Given the description of an element on the screen output the (x, y) to click on. 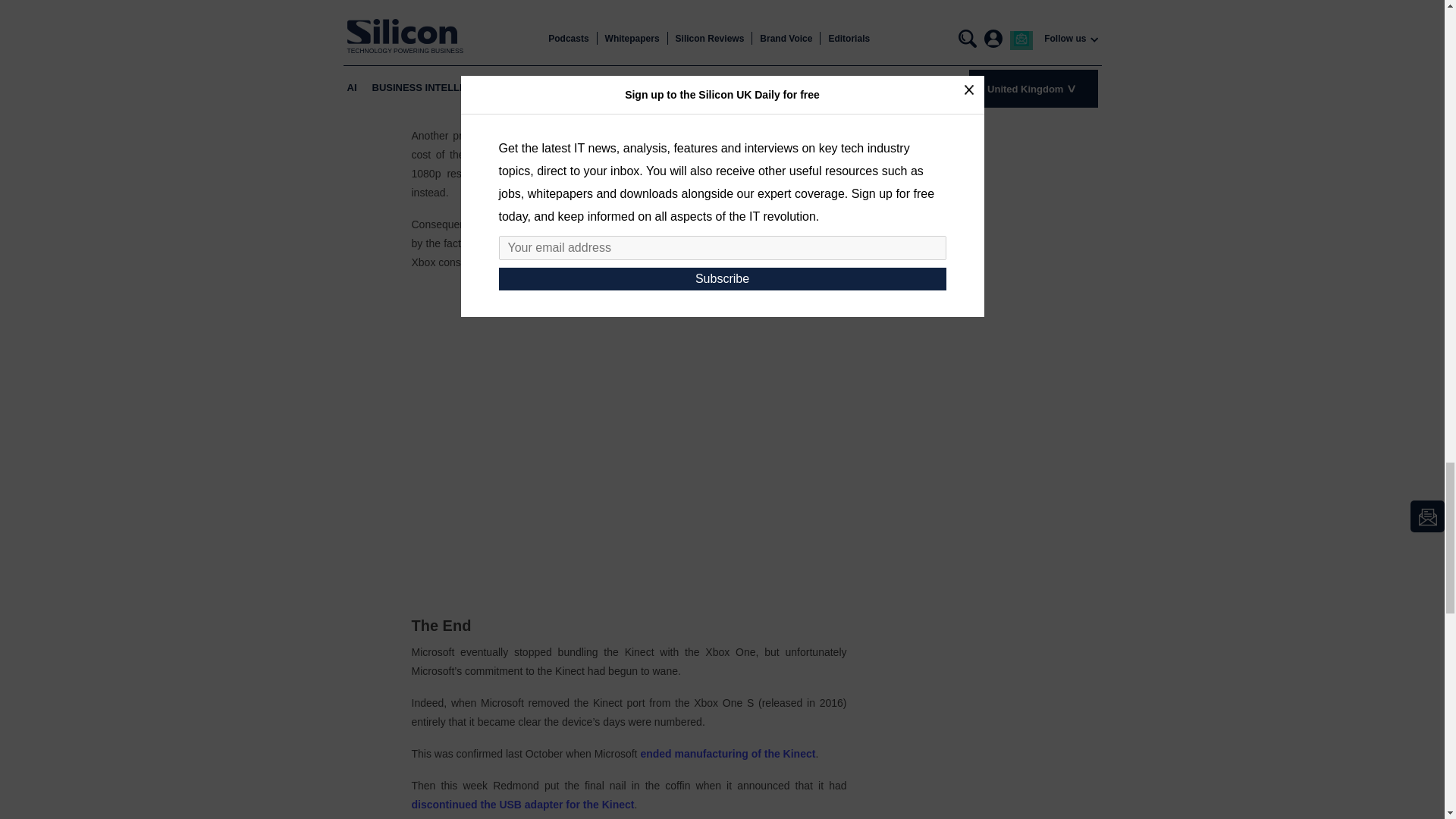
Microsoft Kinect (629, 444)
   Vote    (628, 3)
View Results Of This Poll (629, 35)
